Given the description of an element on the screen output the (x, y) to click on. 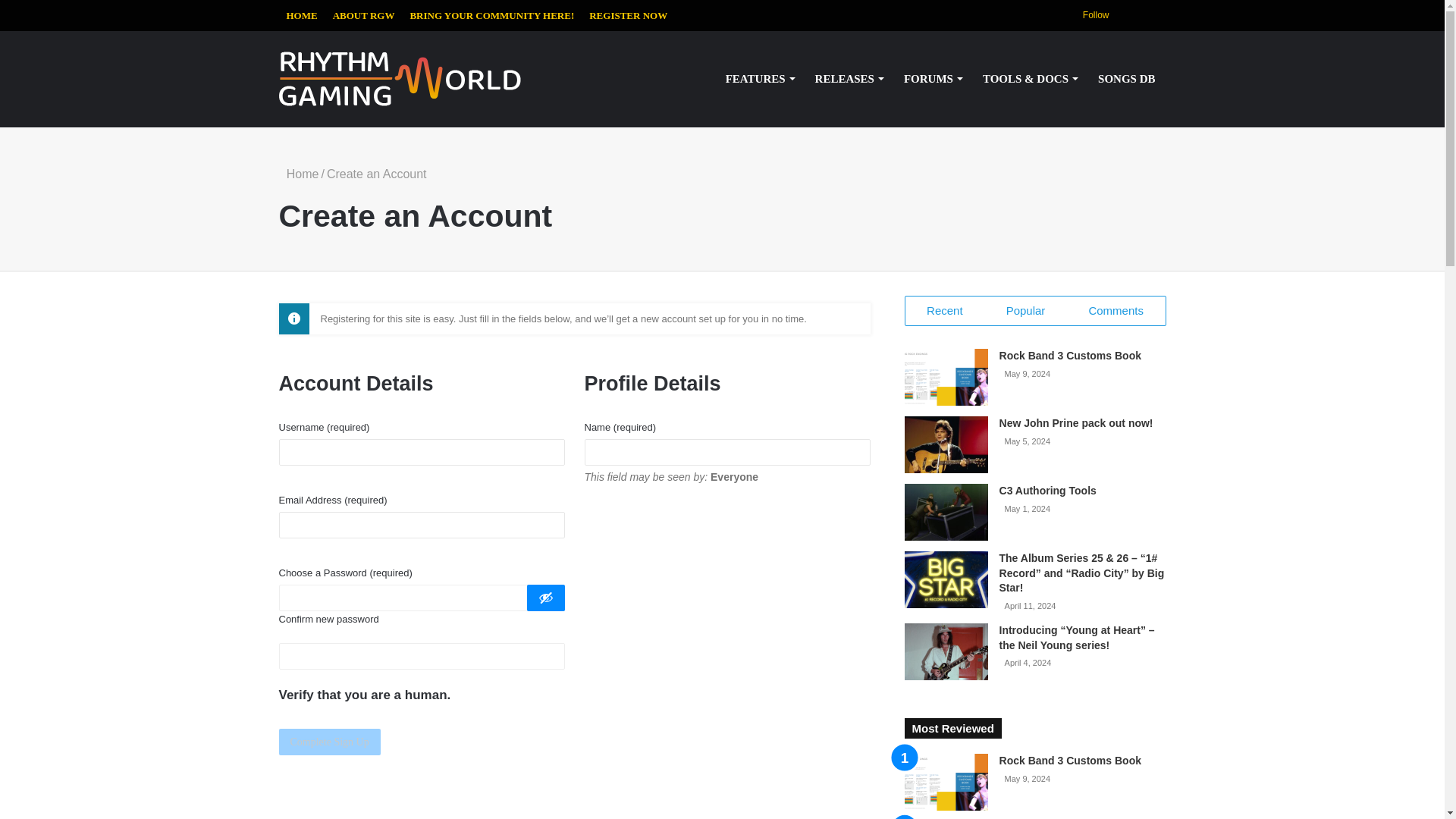
FEATURES (759, 78)
ABOUT RGW (363, 15)
REGISTER NOW (627, 15)
Comments (1116, 310)
BRING YOUR COMMUNITY HERE! (490, 15)
Recent (945, 310)
Home (298, 173)
Follow (1090, 15)
HOME (301, 15)
Rhythm Gaming World (400, 78)
